Given the description of an element on the screen output the (x, y) to click on. 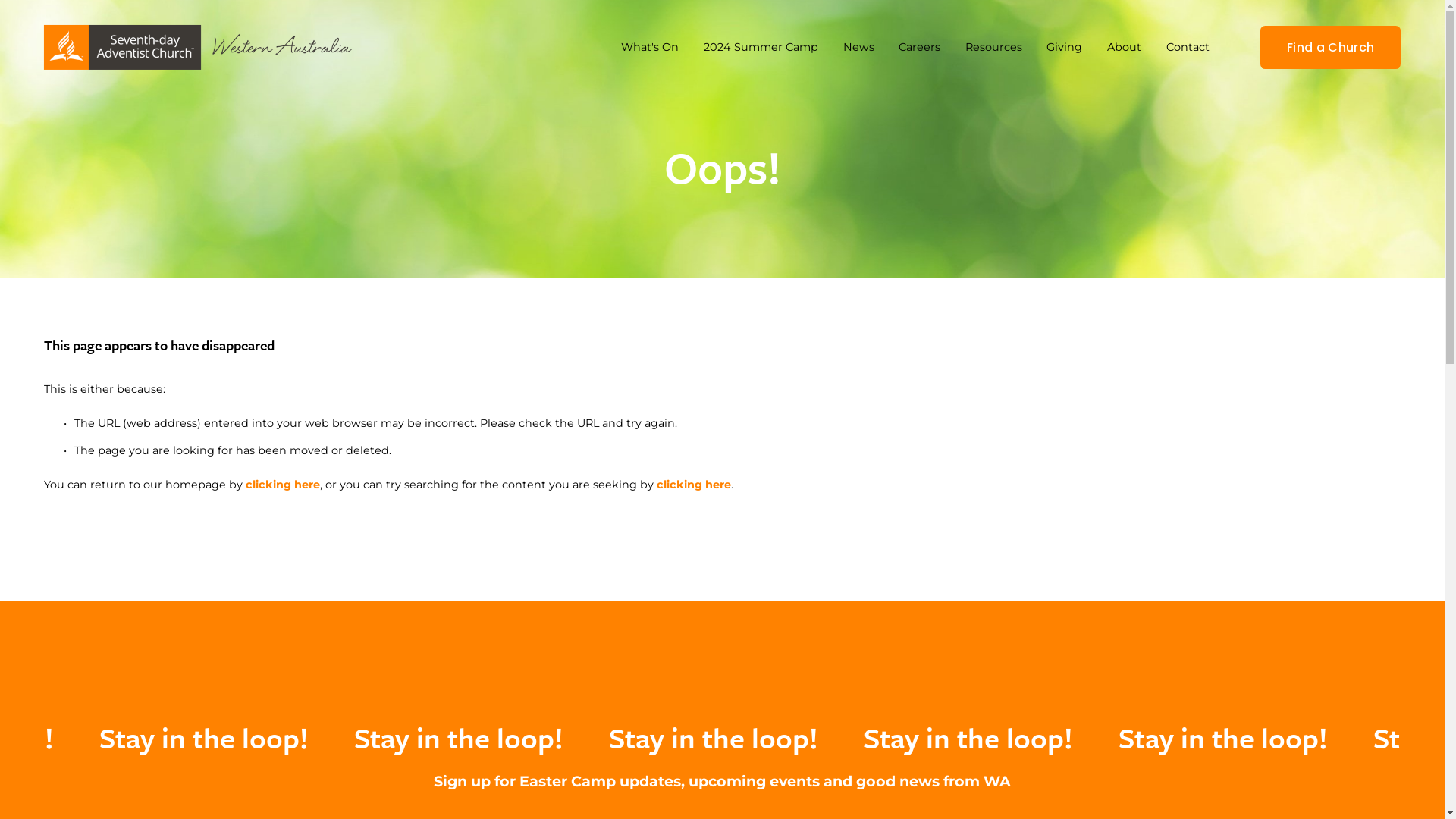
Resources Element type: text (993, 46)
clicking here Element type: text (693, 484)
What's On Element type: text (649, 46)
News Element type: text (858, 46)
Giving Element type: text (1064, 46)
clicking here Element type: text (282, 484)
2024 Summer Camp Element type: text (760, 46)
Careers Element type: text (919, 46)
About Element type: text (1124, 46)
Find a Church Element type: text (1330, 47)
Contact Element type: text (1187, 46)
